Given the description of an element on the screen output the (x, y) to click on. 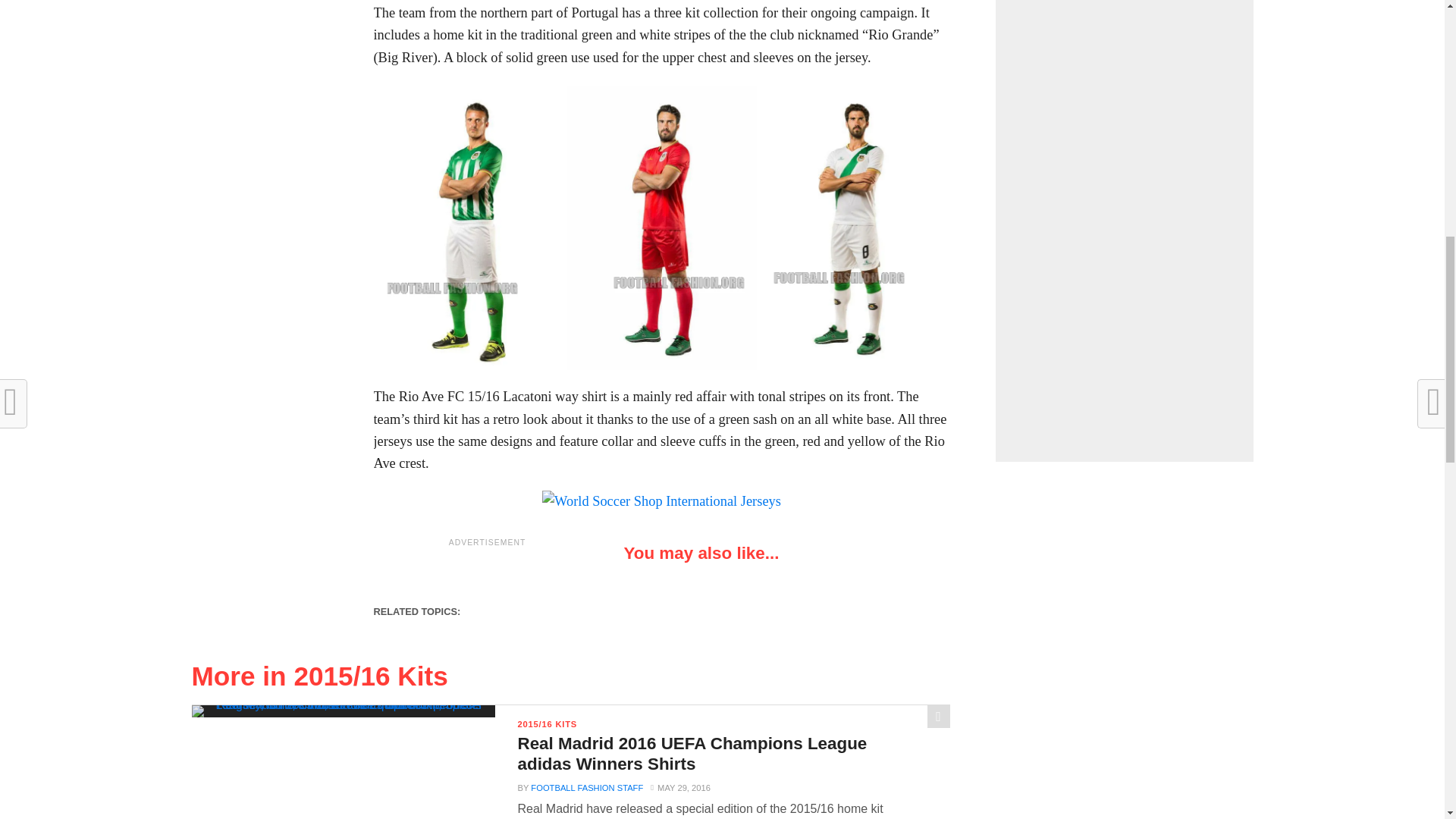
Posts by Football Fashion Staff (587, 787)
